Given the description of an element on the screen output the (x, y) to click on. 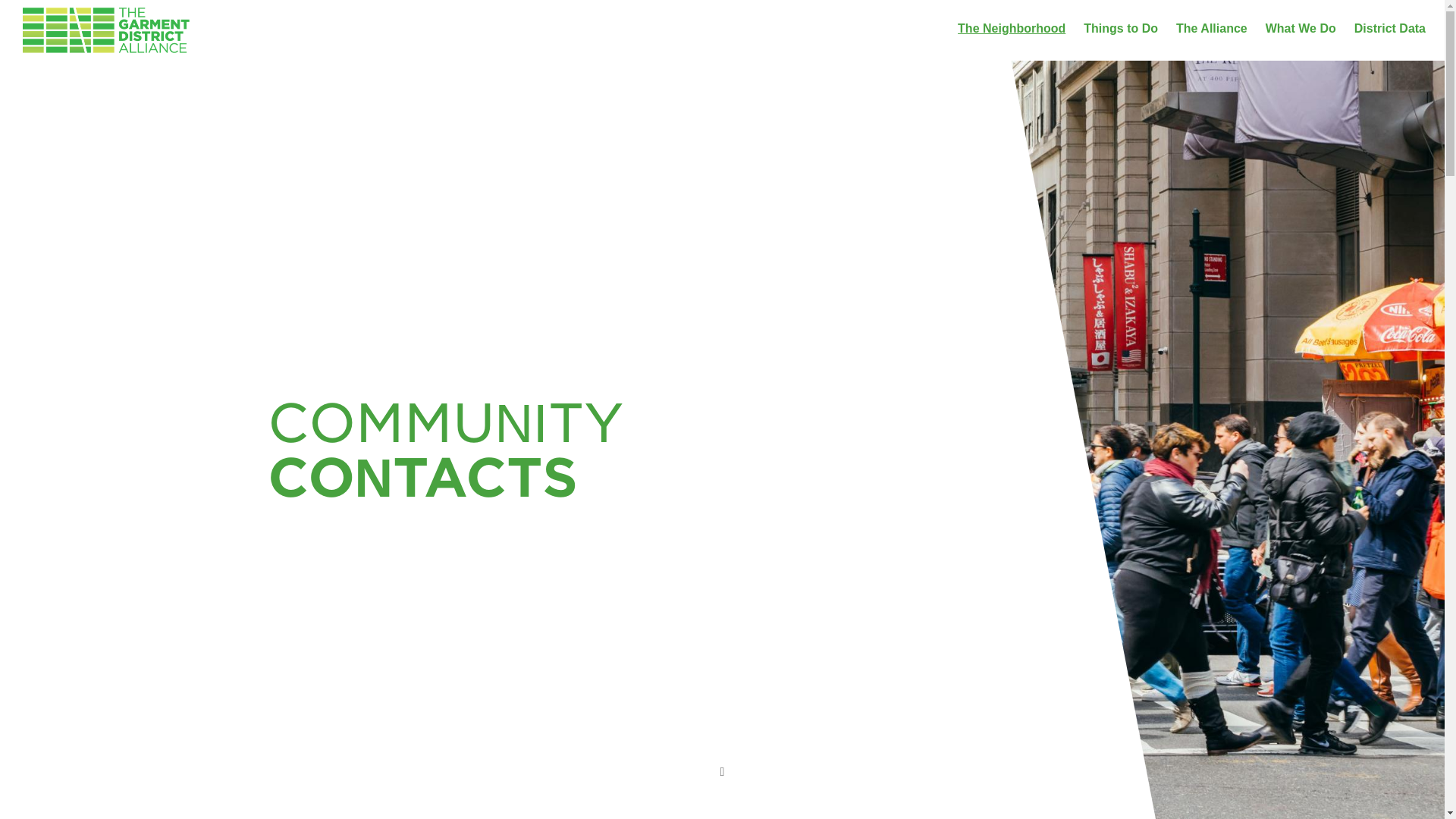
Skip to main content (59, 10)
District Data (1389, 29)
Things to Do (1120, 29)
The Neighborhood (1011, 29)
The Alliance (1211, 29)
Subscribe (1093, 157)
What We Do (1300, 29)
Home (106, 24)
